Given the description of an element on the screen output the (x, y) to click on. 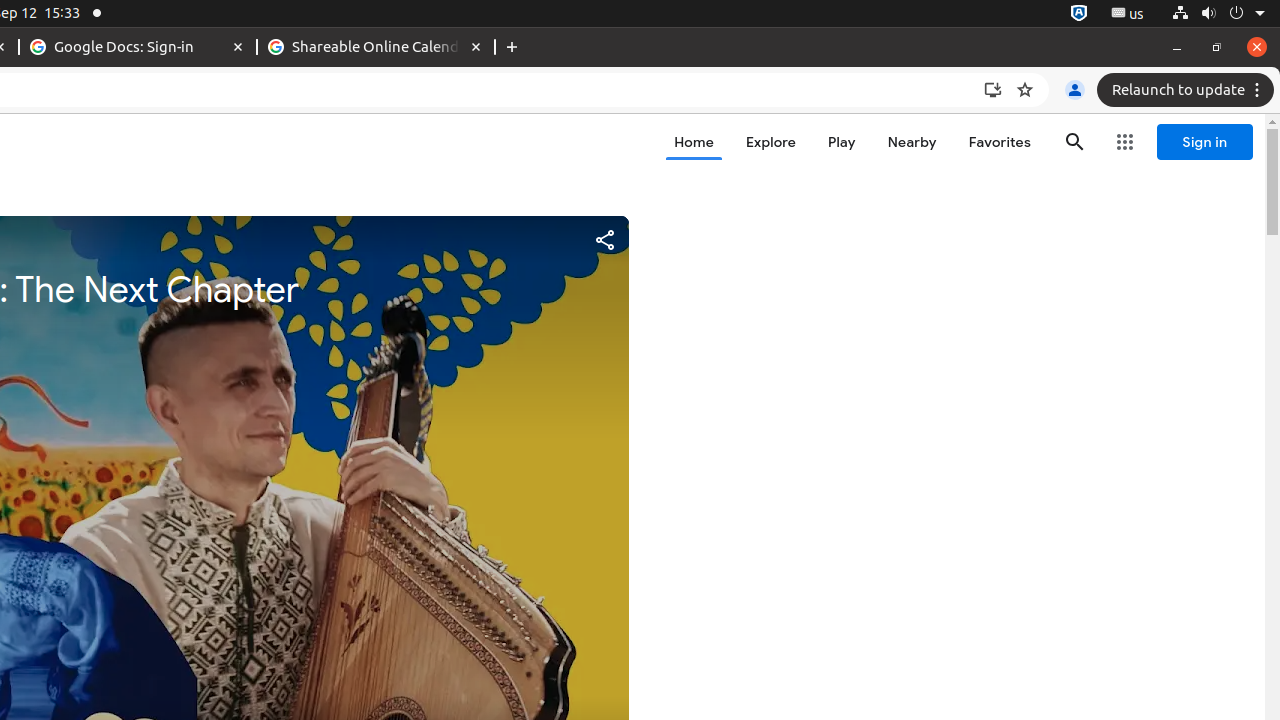
Share "Ukraine is Here: The Next Chapter" Element type: push-button (604, 240)
Install Google Arts & Culture Element type: push-button (993, 90)
System Element type: menu (1218, 13)
:1.21/StatusNotifierItem Element type: menu (1127, 13)
Relaunch to update Element type: push-button (1188, 90)
